Given the description of an element on the screen output the (x, y) to click on. 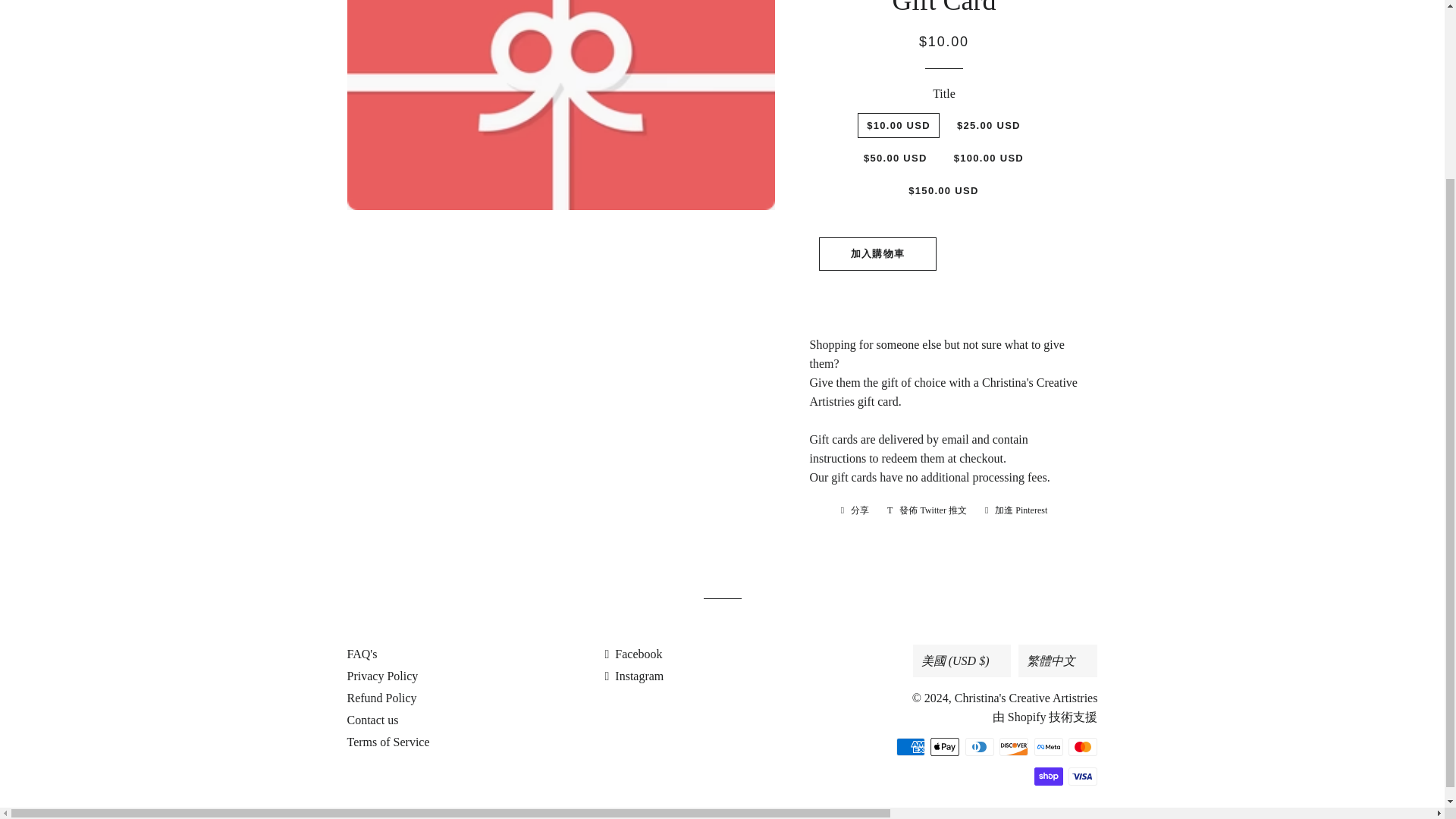
Diners Club (979, 746)
Shop Pay (1047, 776)
Apple Pay (944, 746)
Visa (1082, 776)
Mastercard (1082, 746)
Meta Pay (1047, 746)
American Express (910, 746)
Discover (1012, 746)
